Given the description of an element on the screen output the (x, y) to click on. 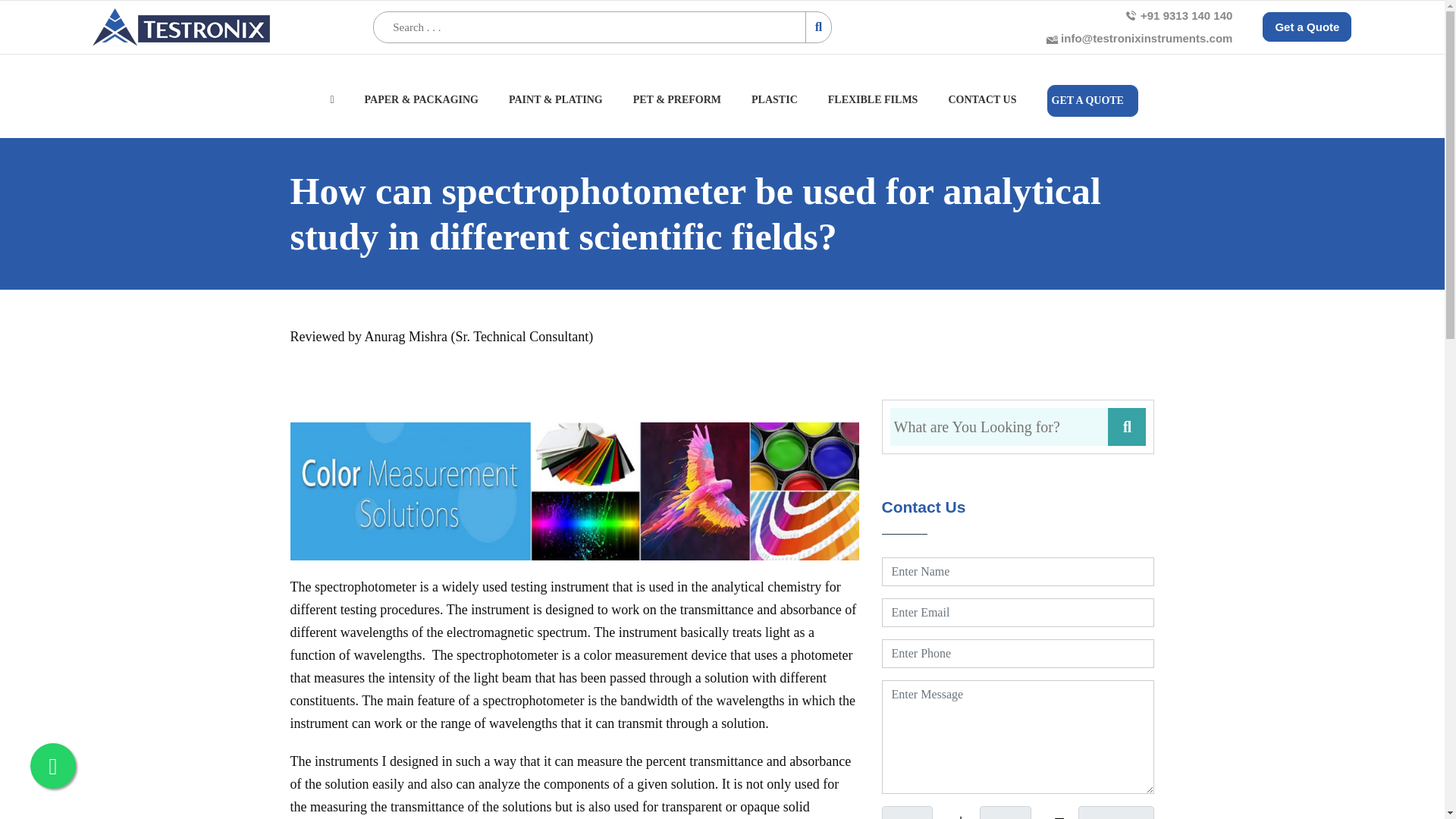
1 (905, 812)
CONTACT US (981, 107)
FLEXIBLE FILMS (873, 107)
GET A QUOTE (1092, 101)
Get a Quote (1306, 26)
PLASTIC (774, 107)
4 (1004, 812)
